Given the description of an element on the screen output the (x, y) to click on. 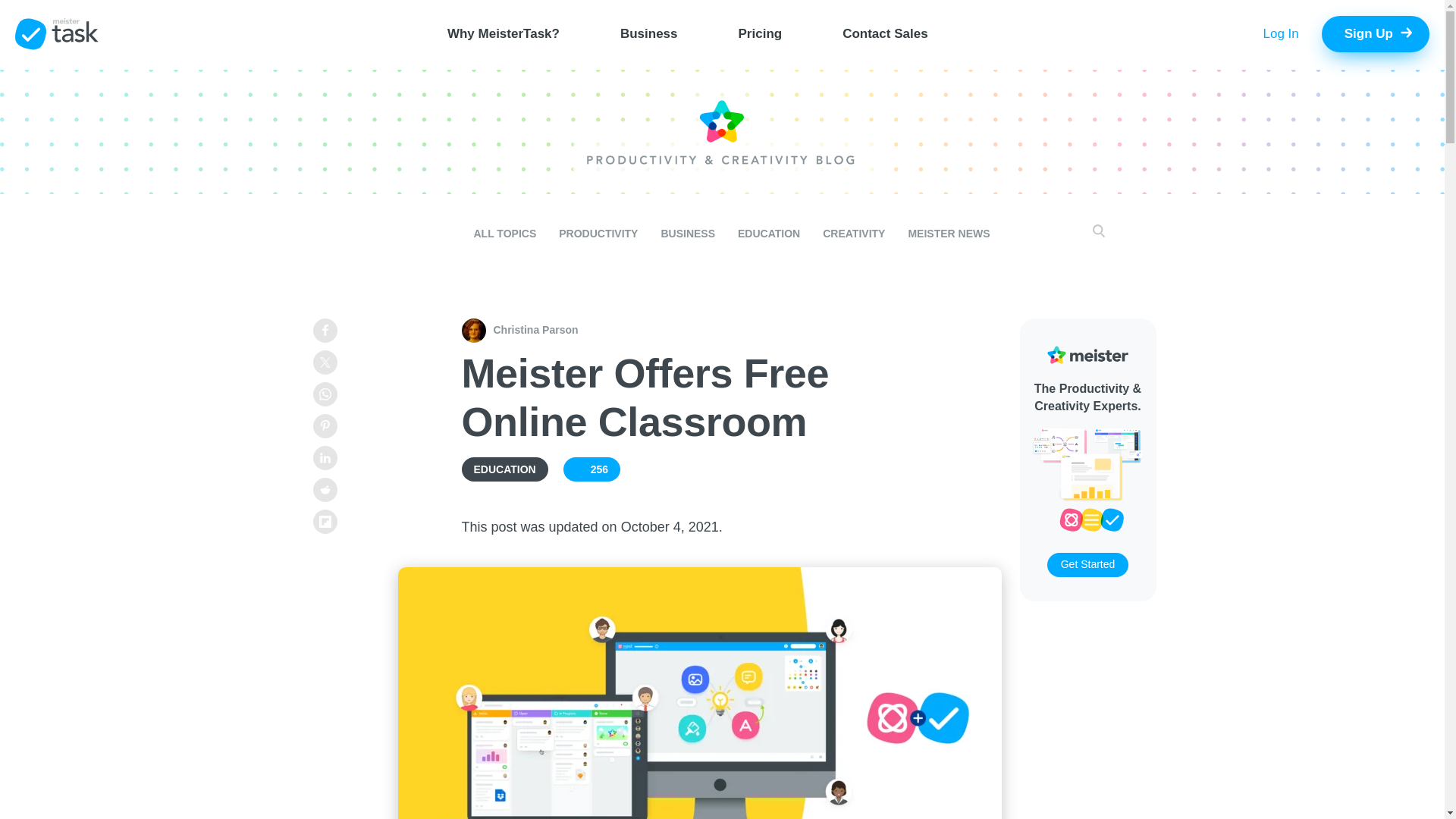
Pricing (760, 33)
Sign Up (1375, 33)
Search (1086, 233)
Search (1086, 233)
Search (1086, 233)
Share on LinkedIn (324, 457)
PRODUCTIVITY (598, 233)
ALL TOPICS (504, 233)
EDUCATION (504, 468)
Share with WhatsApp (324, 394)
MEISTER NEWS (948, 233)
Share with Reddit (324, 489)
BUSINESS (687, 233)
Business (649, 33)
Share on Twitter (324, 362)
